Given the description of an element on the screen output the (x, y) to click on. 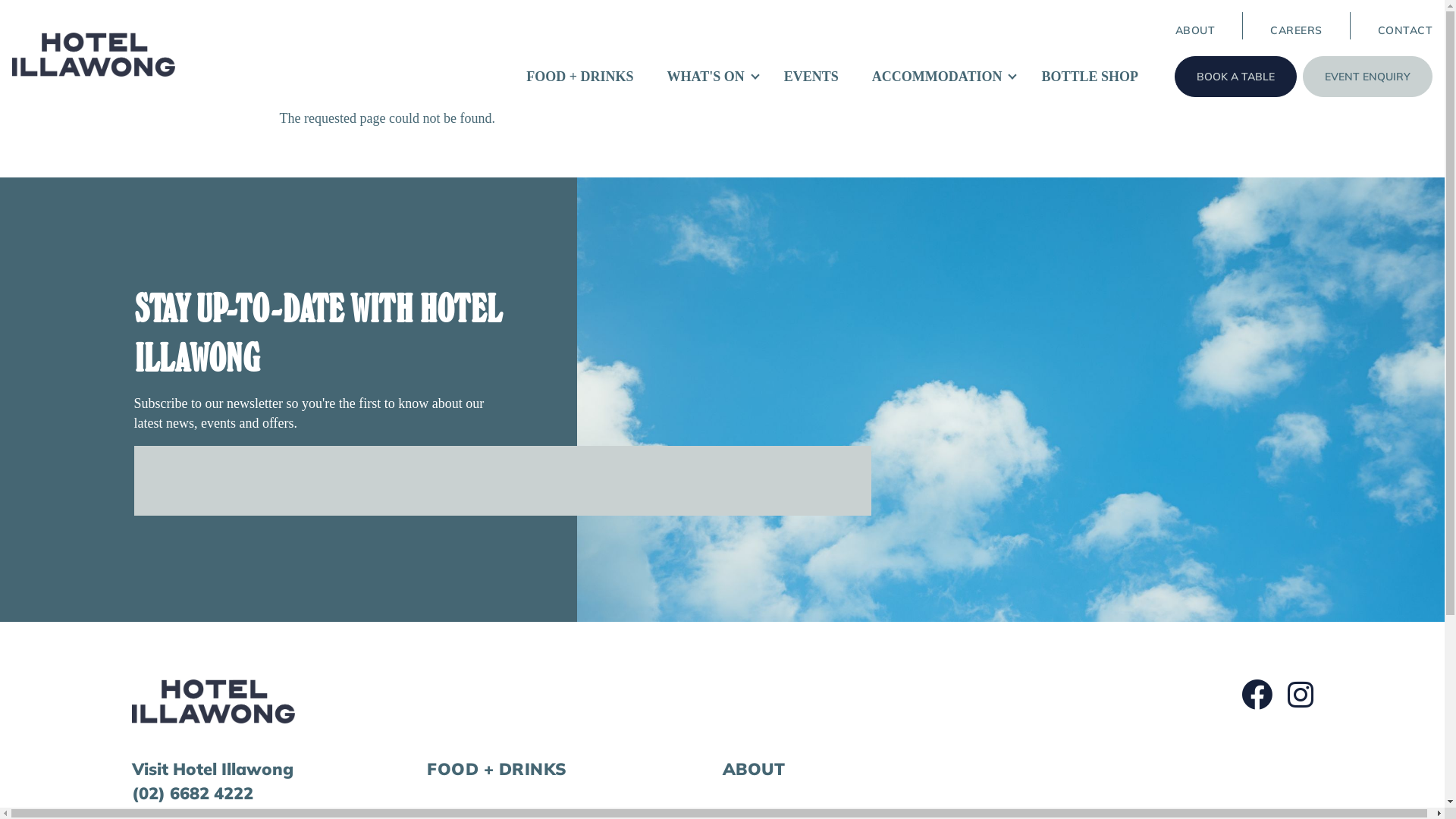
BOTTLE SHOP Element type: text (1089, 76)
(02) 6682 4222 Element type: text (192, 792)
CAREERS Element type: text (1296, 30)
Skip to main content Element type: text (0, 0)
WHAT'S ON Element type: text (705, 76)
ABOUT Element type: text (1195, 30)
ACCOMMODATION Element type: text (936, 76)
FOOD + DRINKS Element type: text (496, 768)
Image Element type: text (93, 54)
Facebook Element type: text (1257, 694)
Image Element type: text (212, 701)
Instagram Element type: text (1300, 694)
EVENT ENQUIRY Element type: text (1367, 76)
ABOUT Element type: text (752, 768)
BOOK A TABLE Element type: text (1235, 76)
CONTACT Element type: text (1404, 30)
EVENTS Element type: text (810, 76)
FOOD + DRINKS Element type: text (579, 76)
